Given the description of an element on the screen output the (x, y) to click on. 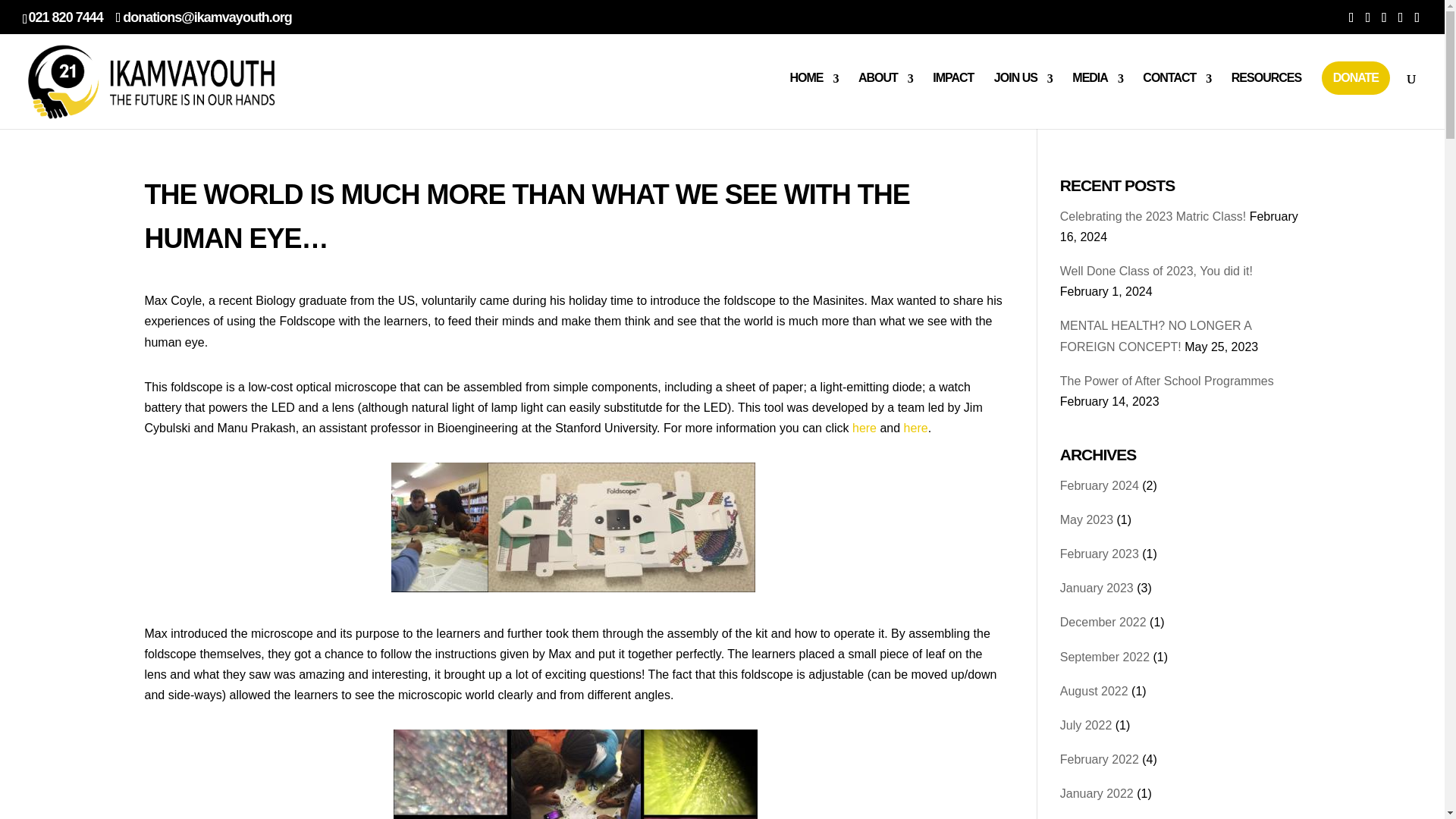
JOIN US (1023, 91)
RESOURCES (1266, 91)
ABOUT (885, 91)
DONATE (1356, 78)
CONTACT (1176, 91)
